Given the description of an element on the screen output the (x, y) to click on. 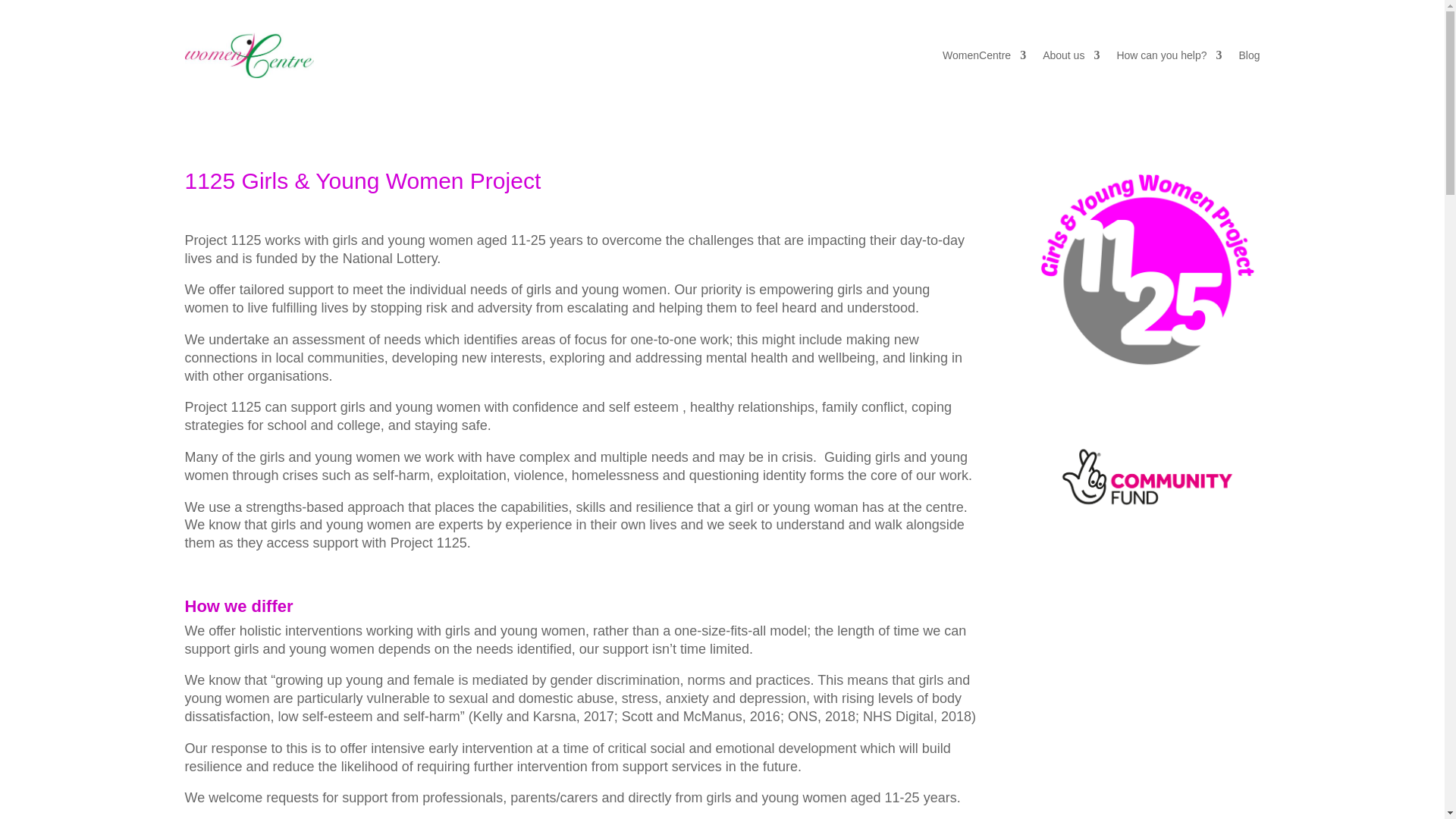
WomenCentre (984, 55)
About us (1070, 55)
How can you help? (1168, 55)
